Given the description of an element on the screen output the (x, y) to click on. 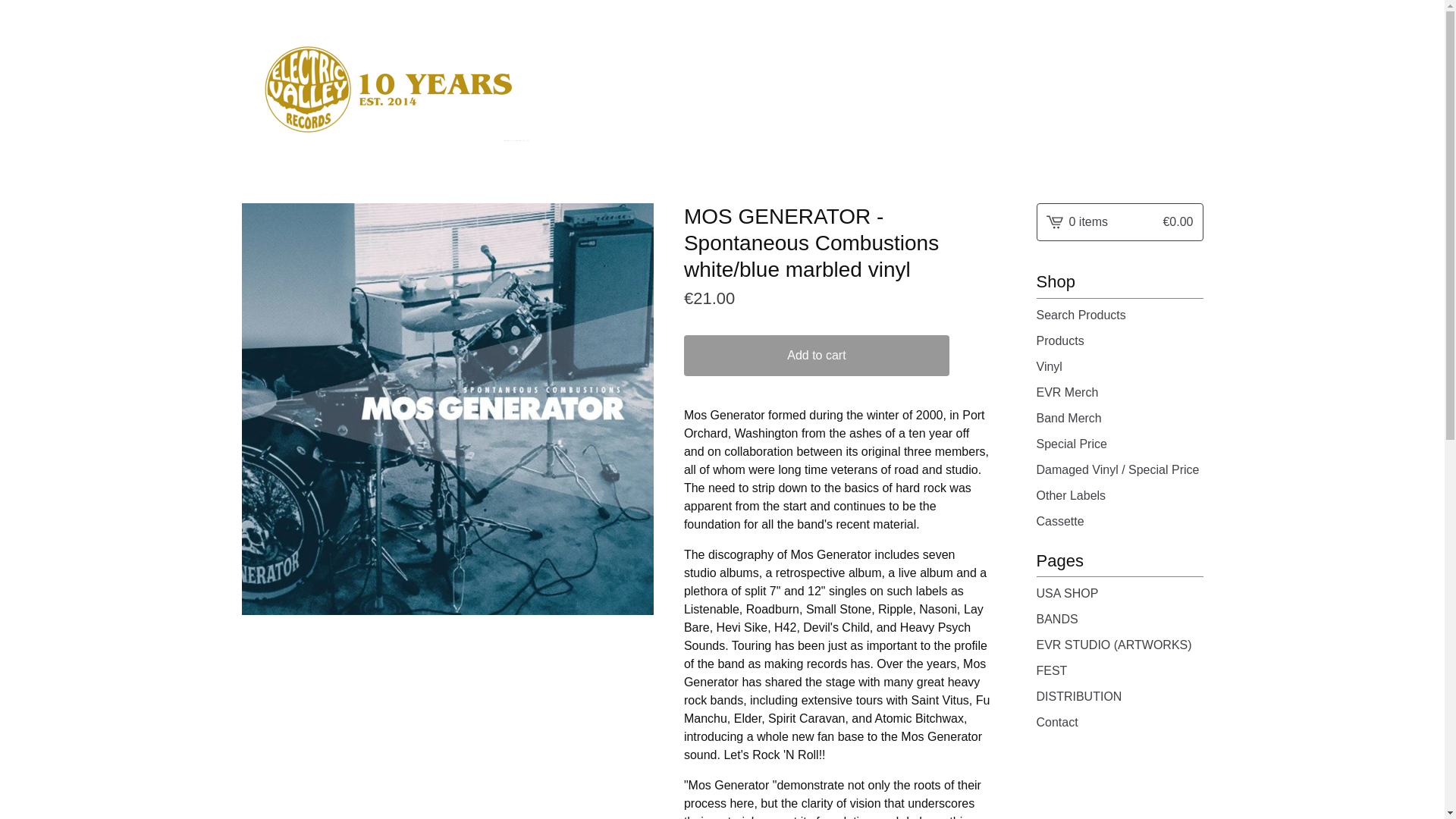
View FEST (1118, 670)
Cassette (1118, 521)
View Cassette (1118, 521)
Contact (1118, 722)
Vinyl (1118, 366)
Add to cart (816, 354)
View DISTRIBUTION (1118, 696)
View BANDS (1118, 619)
EVR Merch (1118, 392)
USA SHOP (1118, 593)
View Vinyl (1118, 366)
Search Products (1118, 314)
View Band Merch (1118, 418)
Other Labels (1118, 495)
View Special Price (1118, 444)
